Given the description of an element on the screen output the (x, y) to click on. 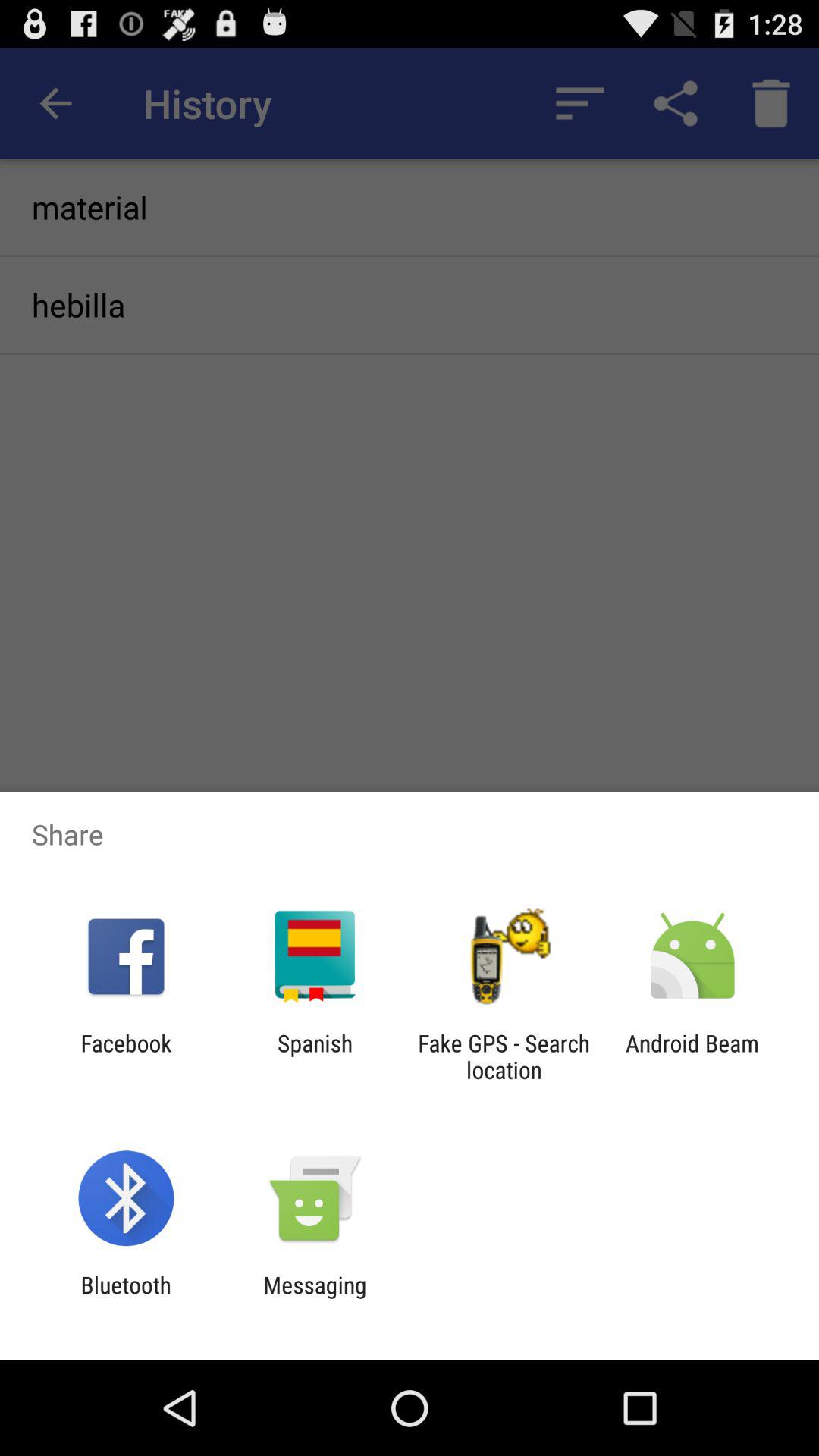
click the android beam at the bottom right corner (692, 1056)
